Given the description of an element on the screen output the (x, y) to click on. 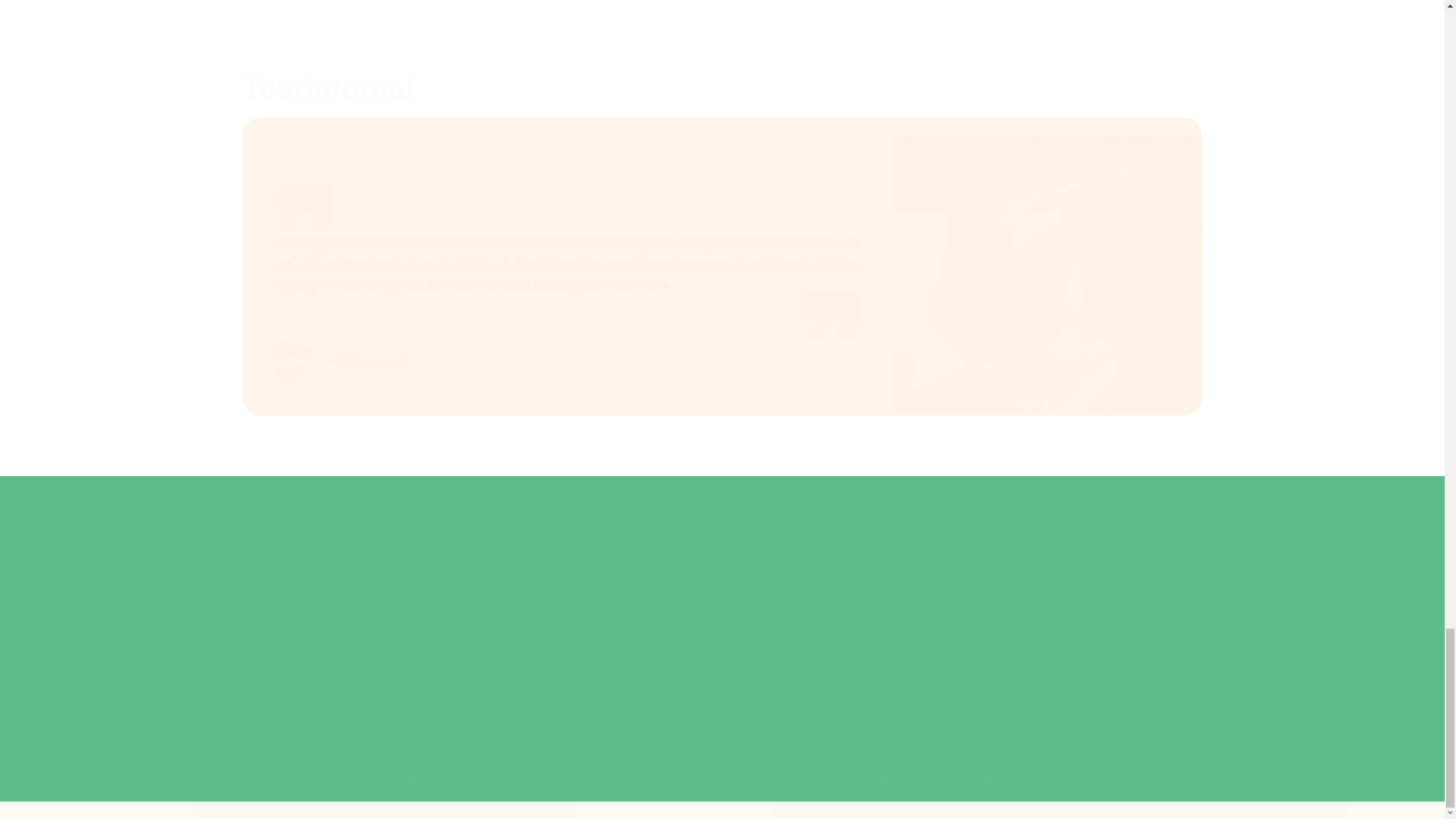
Testimonial (722, 88)
Powered by Shopify (473, 780)
DoggiesGoneWild (350, 780)
Contact (946, 781)
Term (1052, 781)
Follow Us (1112, 633)
Privacy (1003, 781)
Home (893, 782)
